Given the description of an element on the screen output the (x, y) to click on. 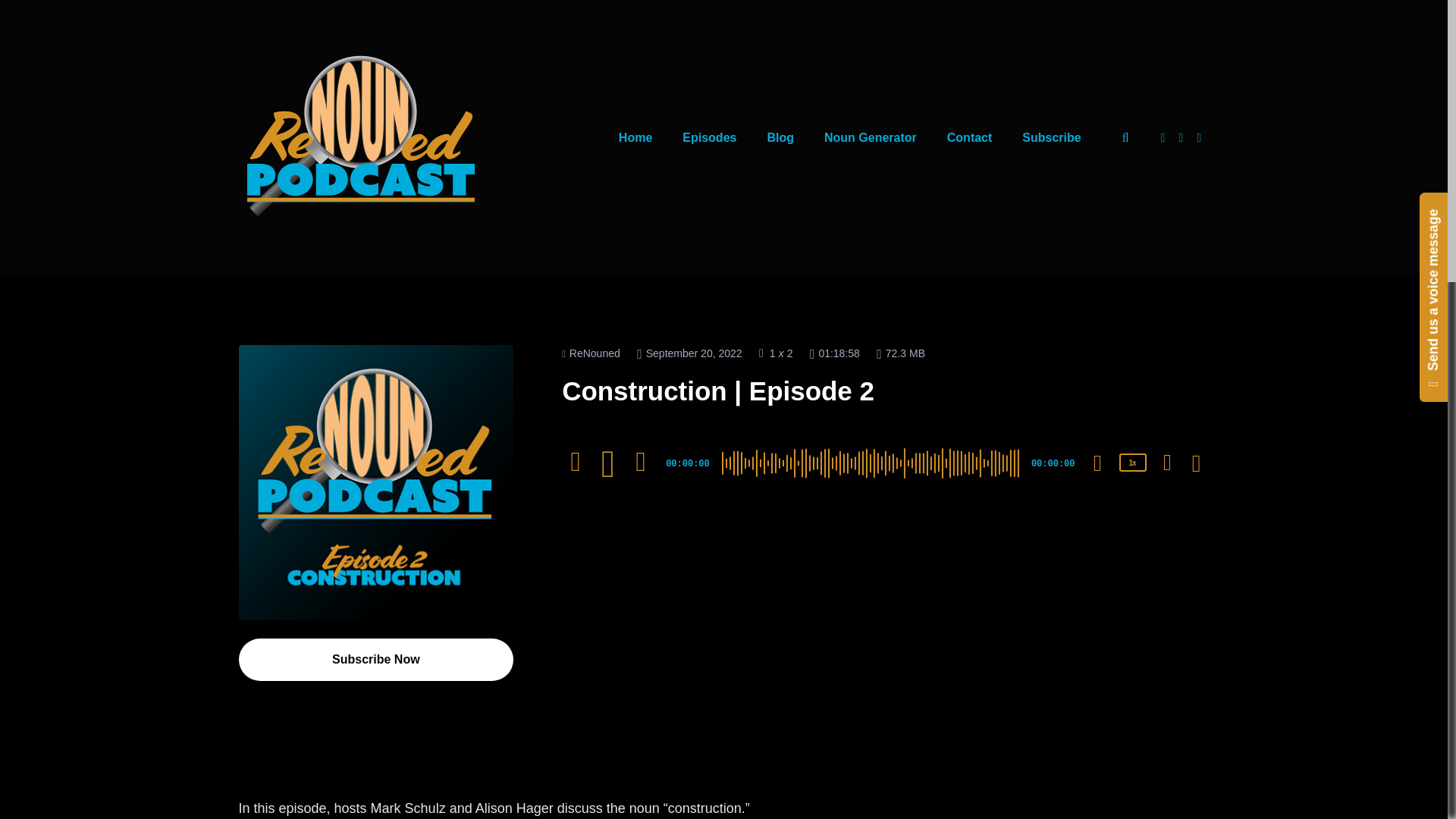
Contact (969, 137)
Blog (780, 137)
Instagram (1163, 137)
Rewind 10 seconds (575, 461)
1x (1133, 462)
Jump forward 30 seconds (640, 461)
YouTube (1199, 137)
Episodes (708, 137)
1 (773, 353)
10 (575, 461)
Date (689, 352)
Subscribe (1051, 137)
Play (608, 464)
ReNouned (591, 353)
Podcast (591, 353)
